Given the description of an element on the screen output the (x, y) to click on. 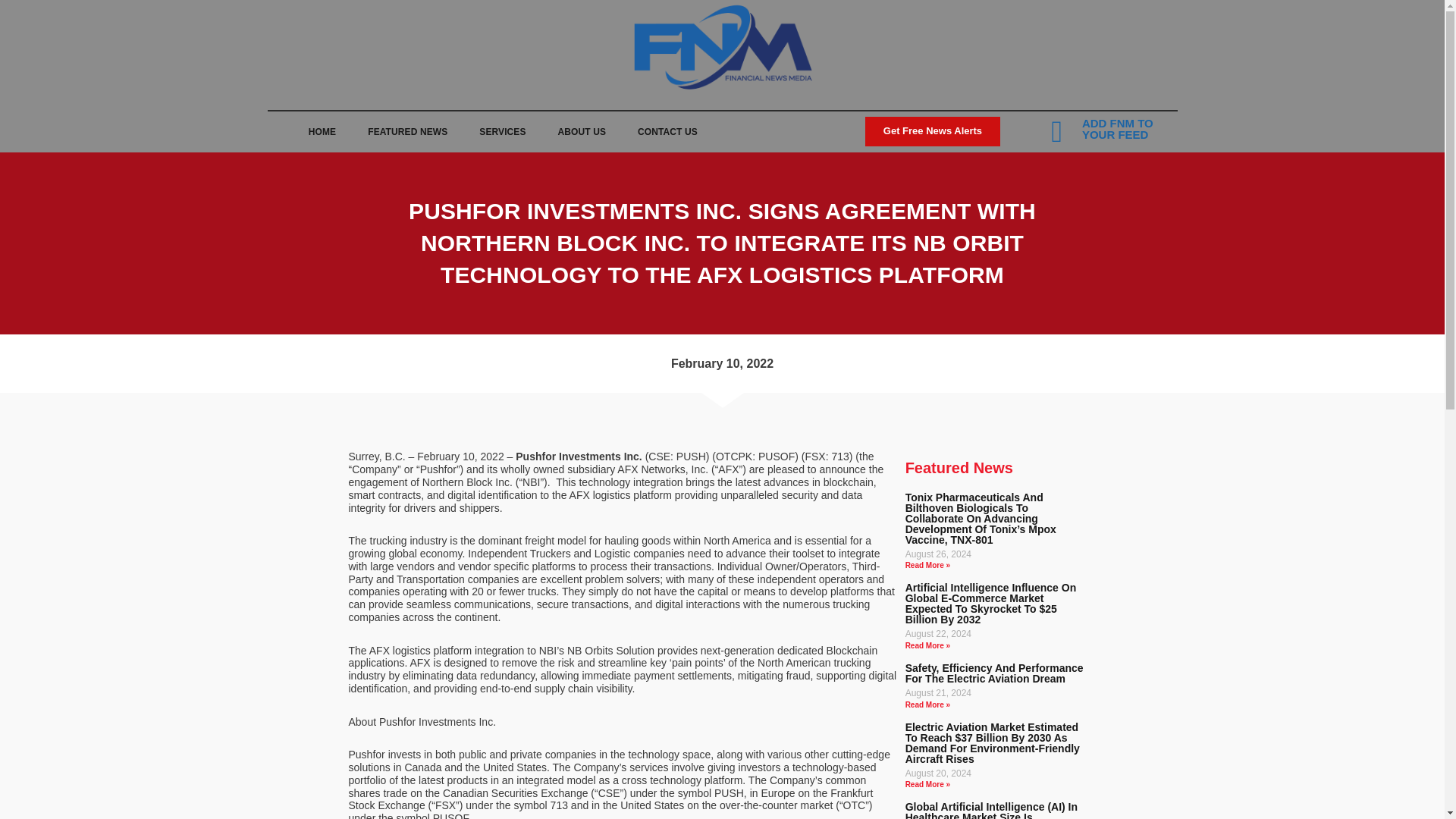
HOME (322, 132)
CONTACT US (667, 132)
ADD FNM TO YOUR FEED (1117, 128)
February 10, 2022 (722, 363)
FEATURED NEWS (407, 132)
Get Free News Alerts (932, 131)
ABOUT US (581, 132)
SERVICES (502, 132)
